Given the description of an element on the screen output the (x, y) to click on. 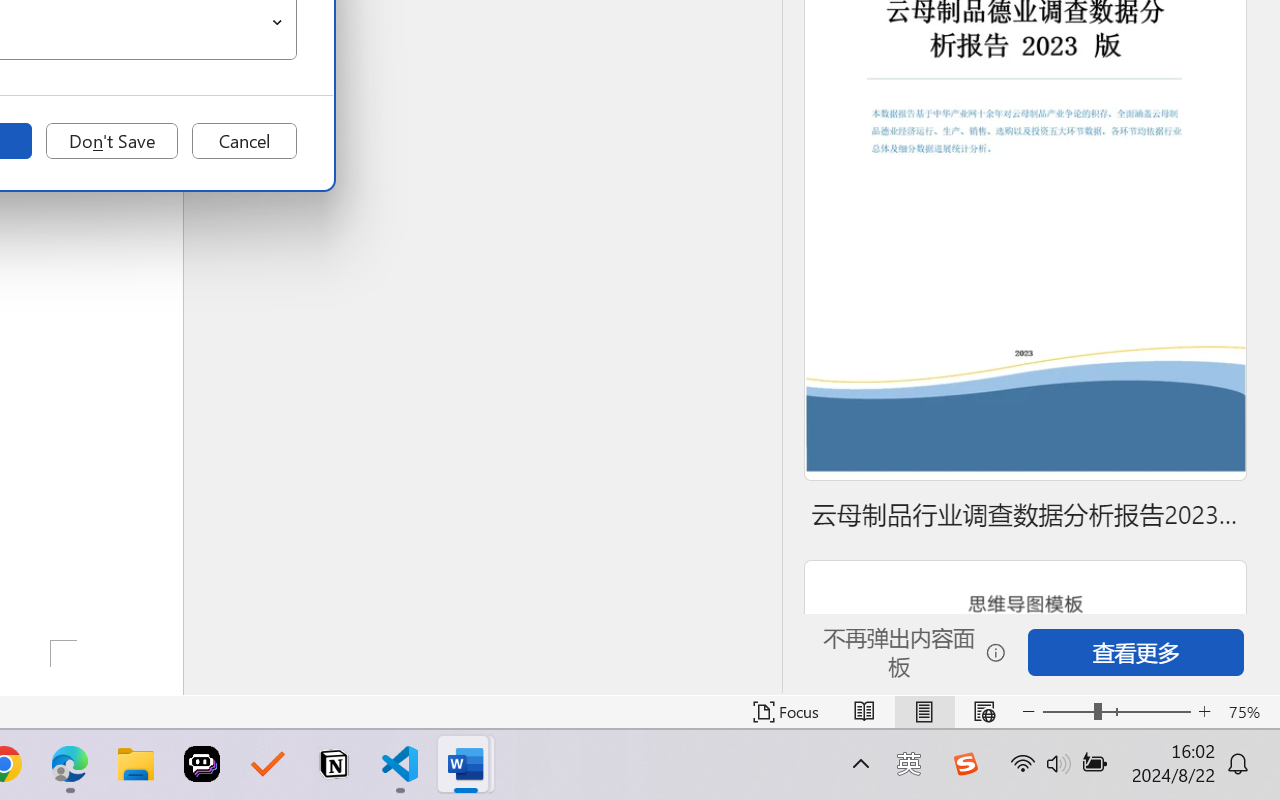
Poe (201, 764)
Web Layout (984, 712)
Zoom In (1204, 712)
Print Layout (924, 712)
Zoom Out (1067, 712)
Notion (333, 764)
Cancel (244, 141)
